Given the description of an element on the screen output the (x, y) to click on. 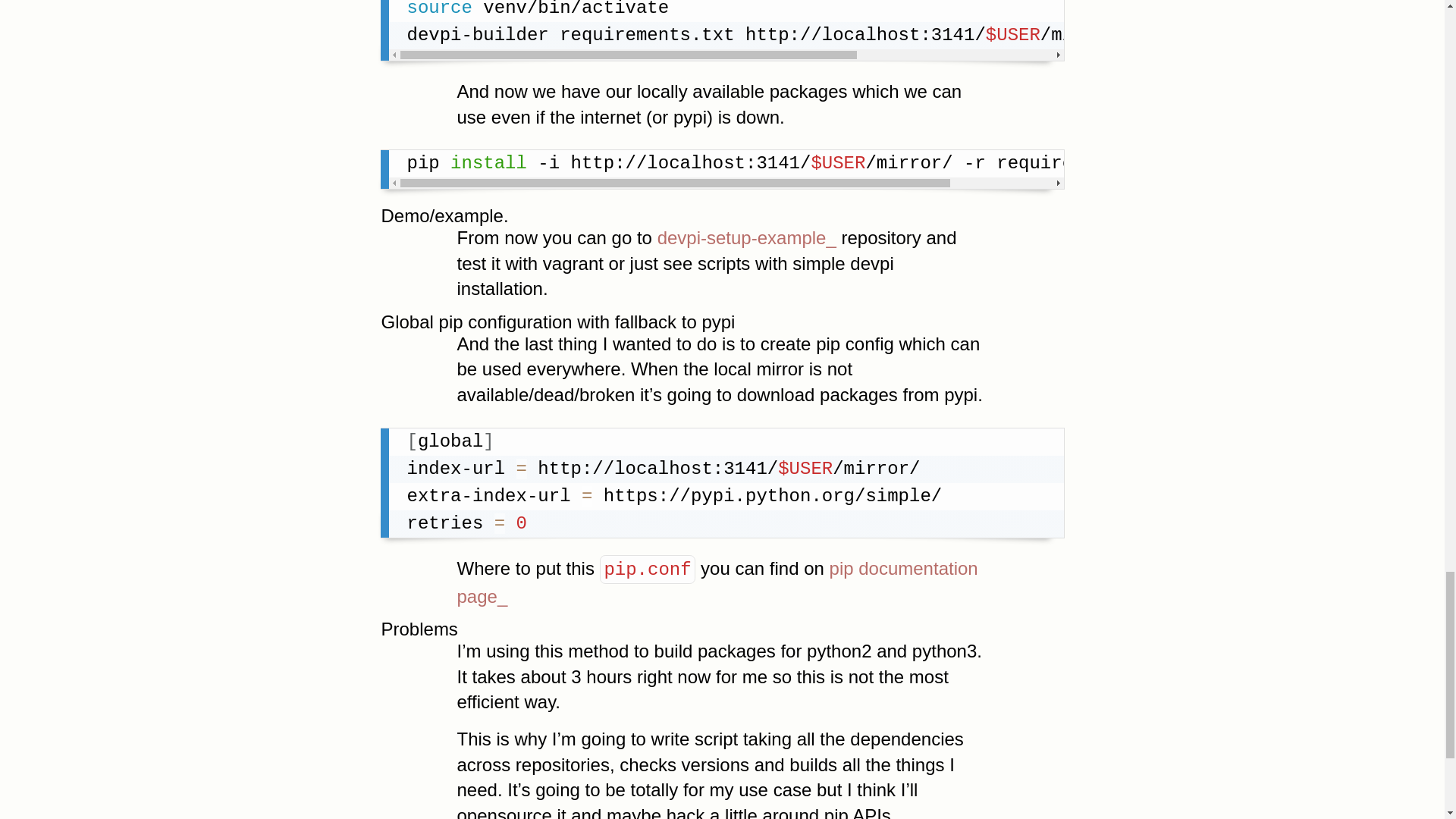
pip documentation page (716, 581)
devpi-setup-example (746, 237)
